Given the description of an element on the screen output the (x, y) to click on. 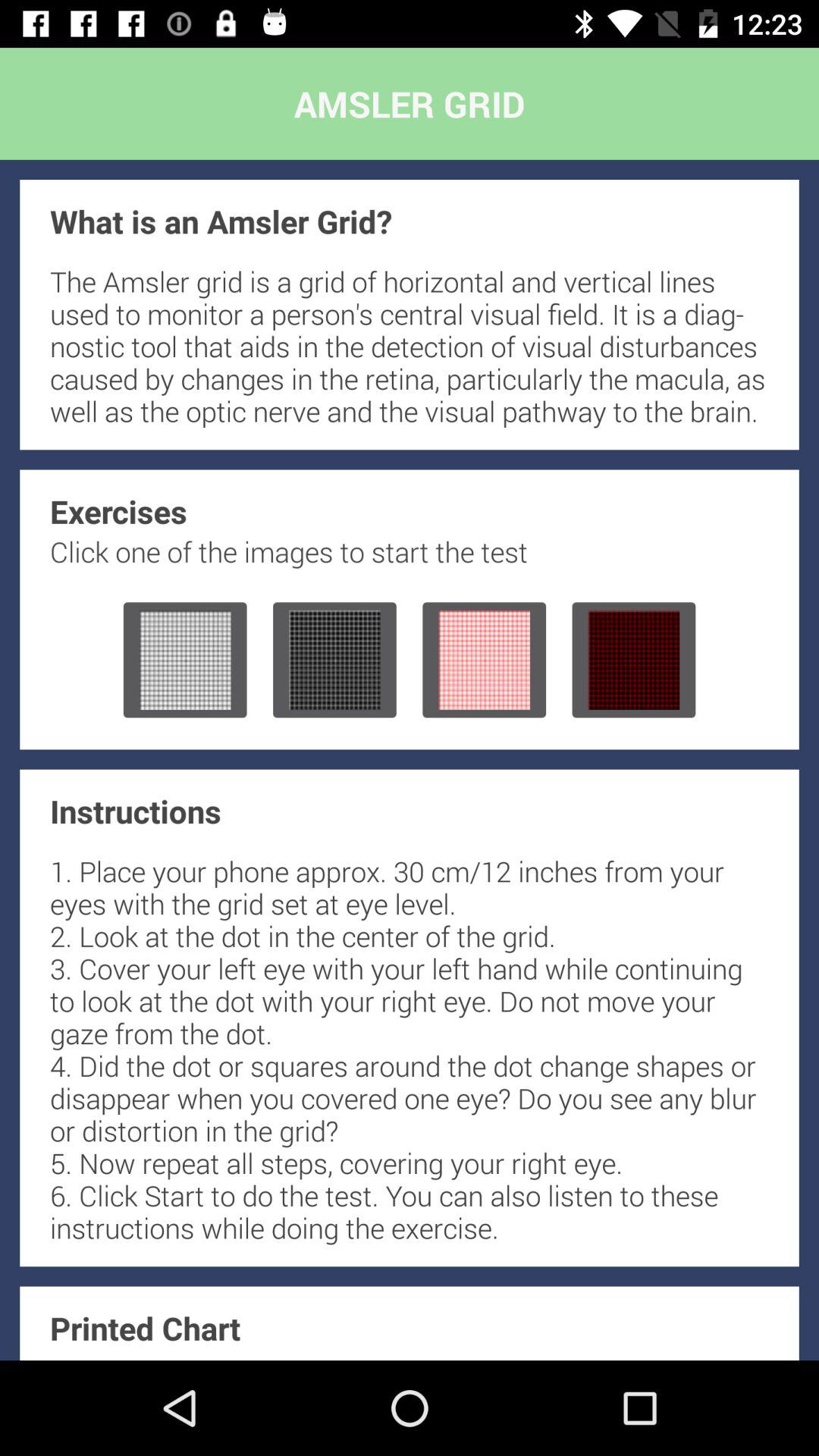
start test with first gray grid image (184, 659)
